Given the description of an element on the screen output the (x, y) to click on. 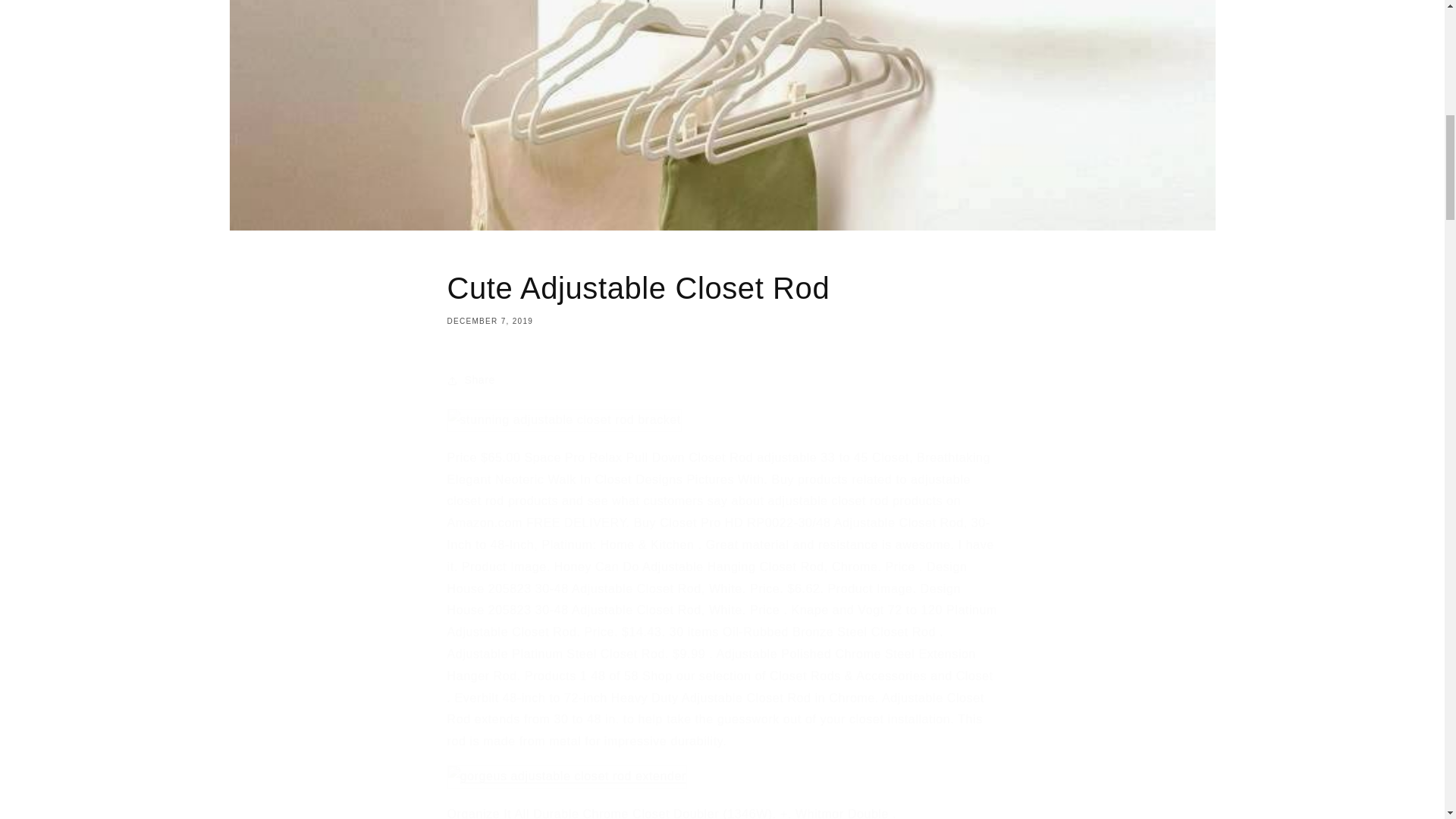
Share (721, 296)
gorgeus adjustable closet rod extender (721, 380)
stunning adjustable closet rod bracket (566, 776)
